Given the description of an element on the screen output the (x, y) to click on. 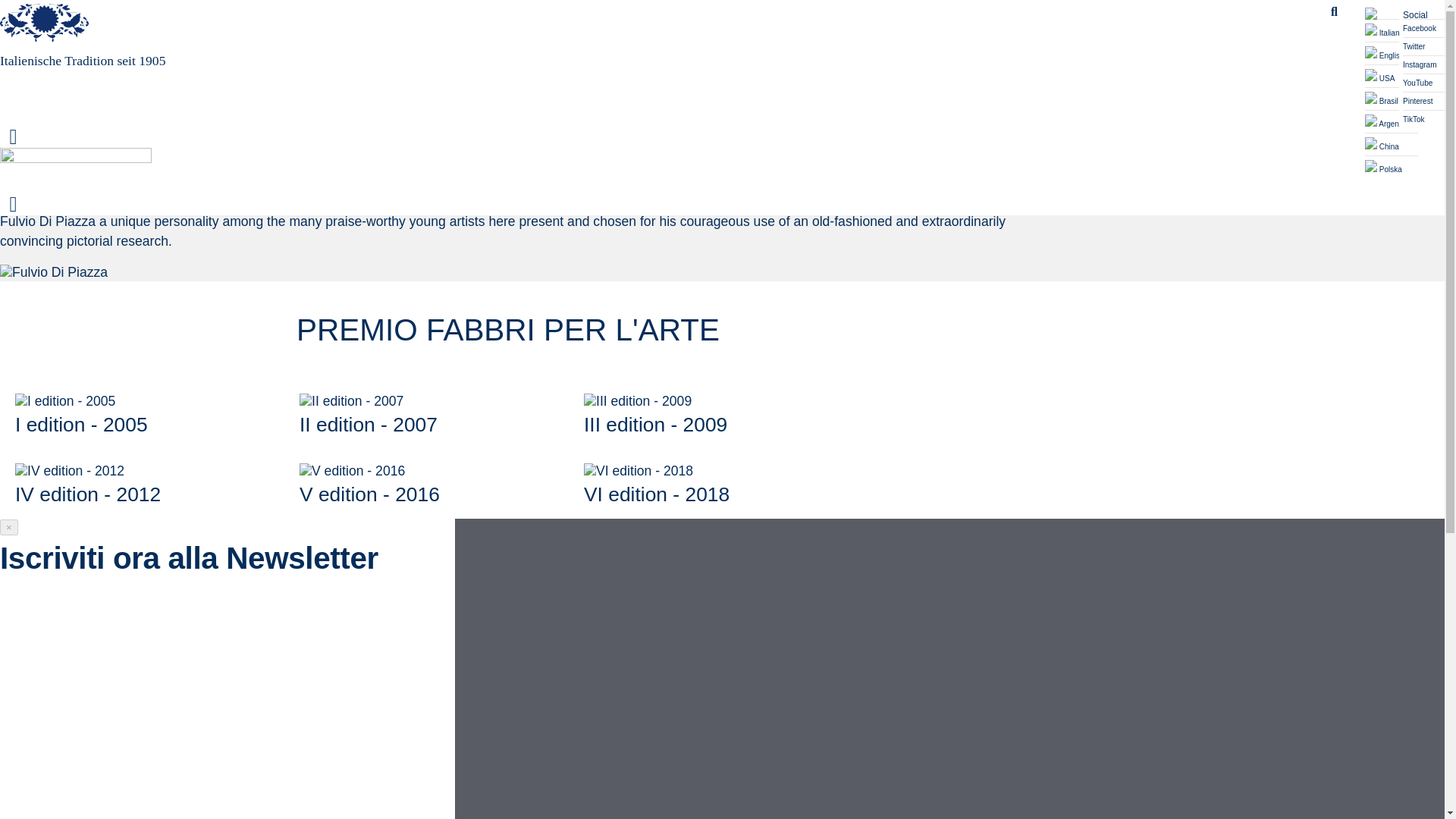
Fabbri 1905 - English (1391, 52)
Fabbri Polska (1391, 166)
Fabbri USA (1391, 75)
Polska (1391, 166)
Fabbri 1905 - Italiano (1391, 29)
Fabbri Argentina (1391, 120)
USA (1391, 75)
Brasil (1391, 97)
China (1391, 143)
Argentina (1391, 120)
